Given the description of an element on the screen output the (x, y) to click on. 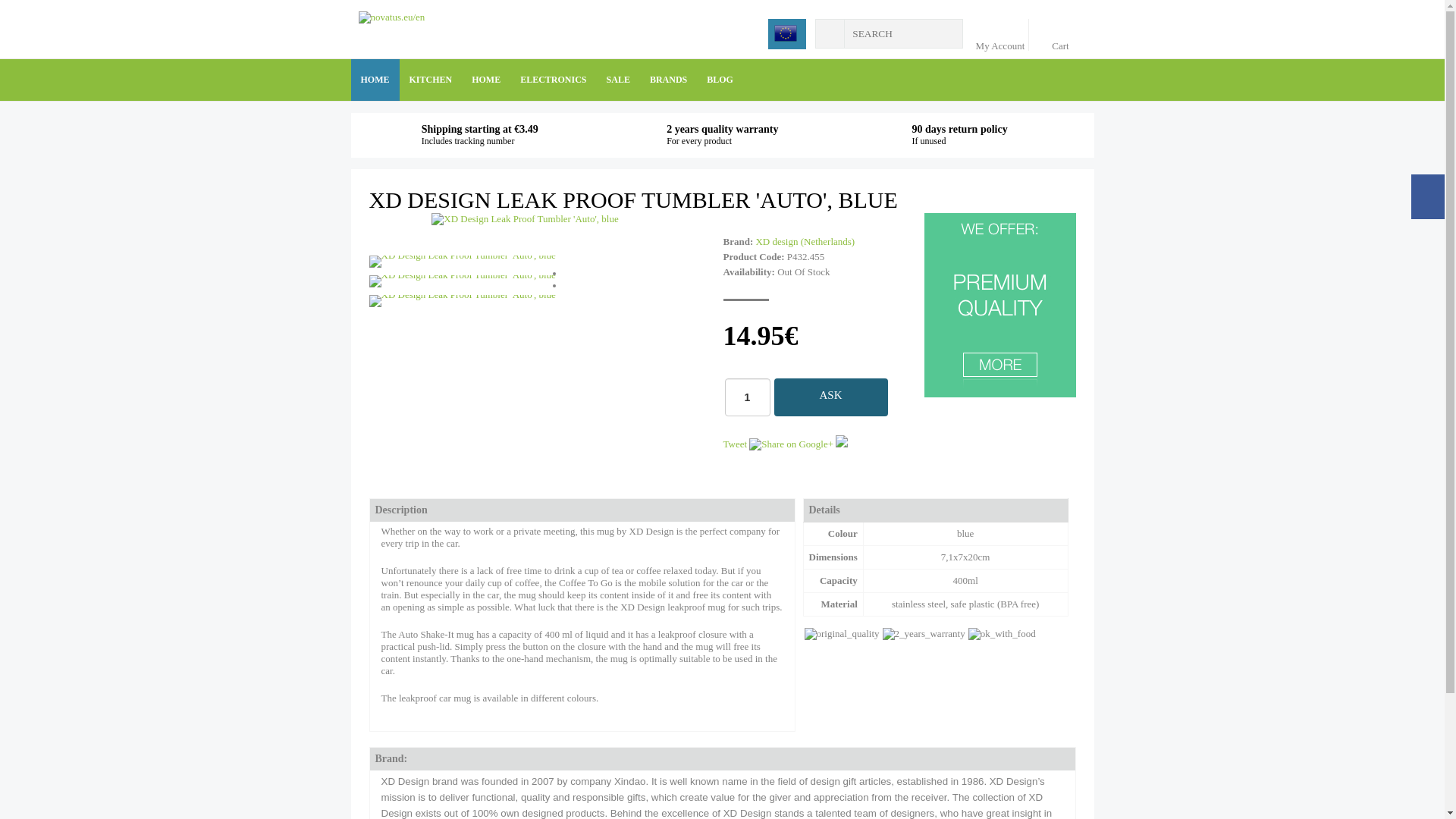
My Account (1002, 34)
XD Design Leak Proof Tumbler 'Auto', blue (523, 218)
XD Design Leak Proof Tumbler 'Auto', blue (461, 300)
XD Design Leak Proof Tumbler 'Auto', blue (461, 261)
HOME (486, 79)
Go (829, 33)
ELECTRONICS (553, 79)
HOME (374, 79)
XD Design Leak Proof Tumbler 'Auto', blue (523, 218)
1 (747, 397)
